Given the description of an element on the screen output the (x, y) to click on. 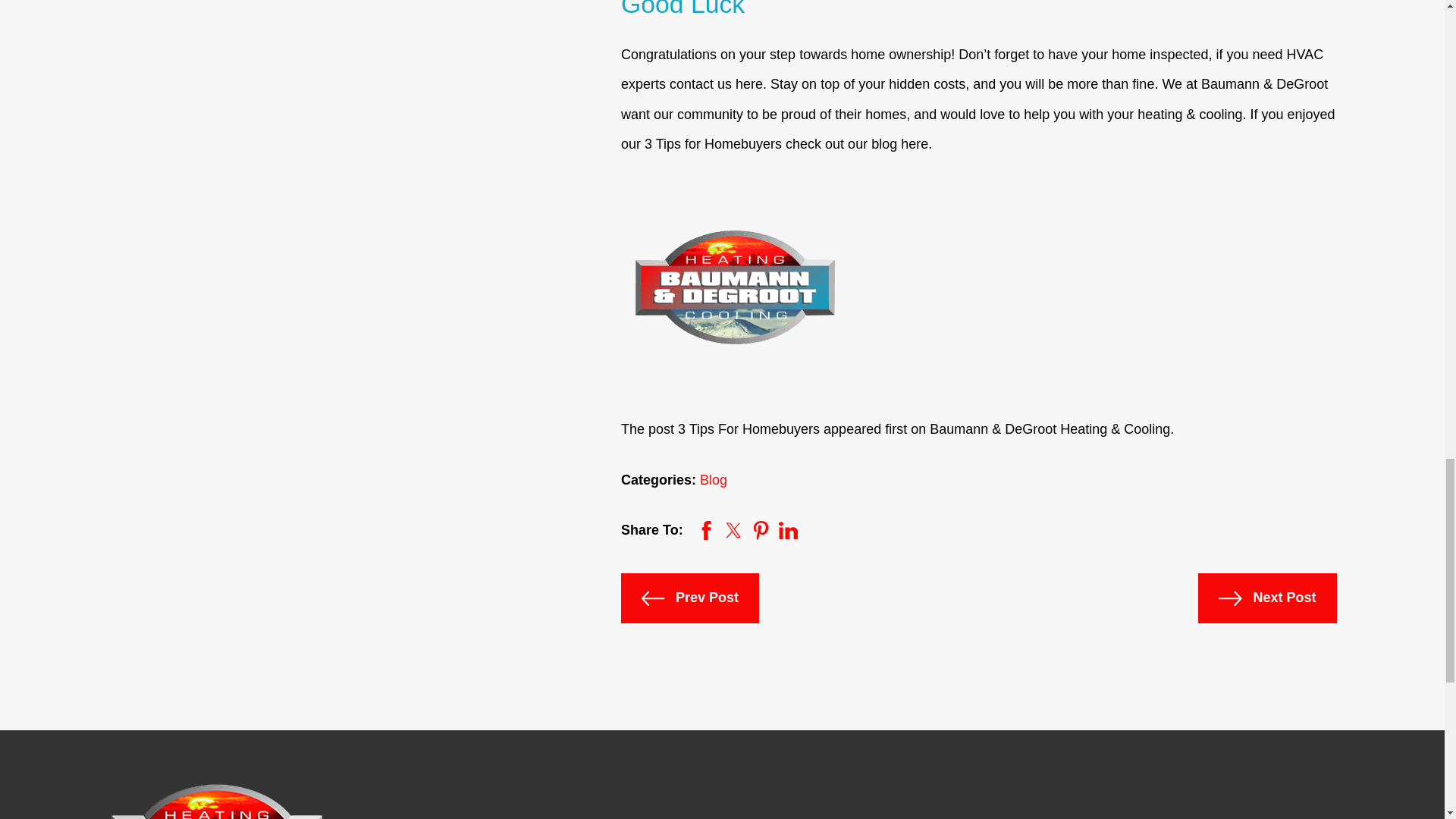
Baumann And Degroot Heating And Cooling (216, 801)
Home (216, 801)
